Given the description of an element on the screen output the (x, y) to click on. 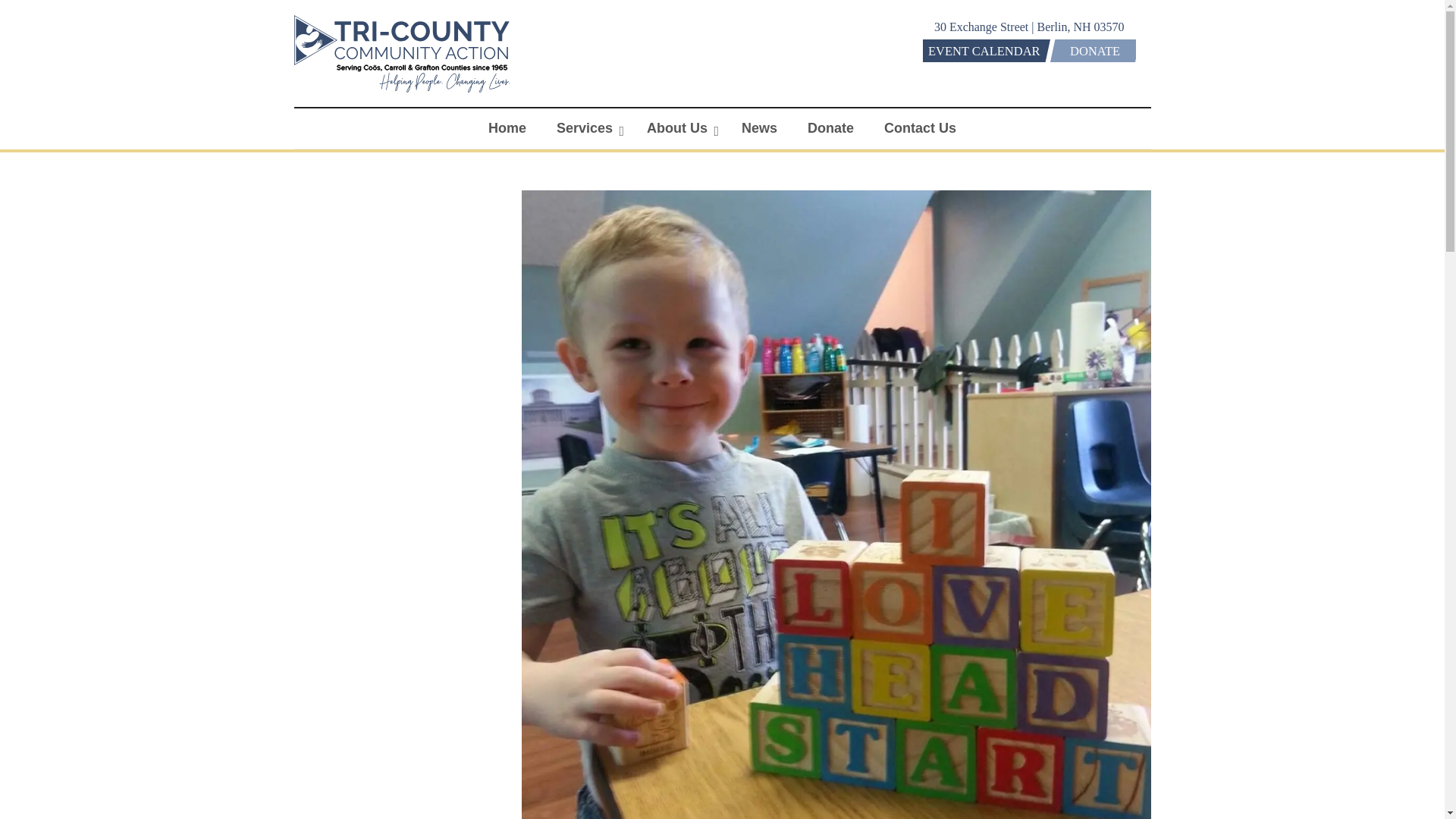
Donate (830, 128)
TCCAP (402, 91)
DONATE (1092, 50)
Home (507, 128)
About Us (678, 128)
EVENT CALENDAR (981, 50)
Contact Us (920, 128)
Services (586, 128)
News (759, 128)
